Given the description of an element on the screen output the (x, y) to click on. 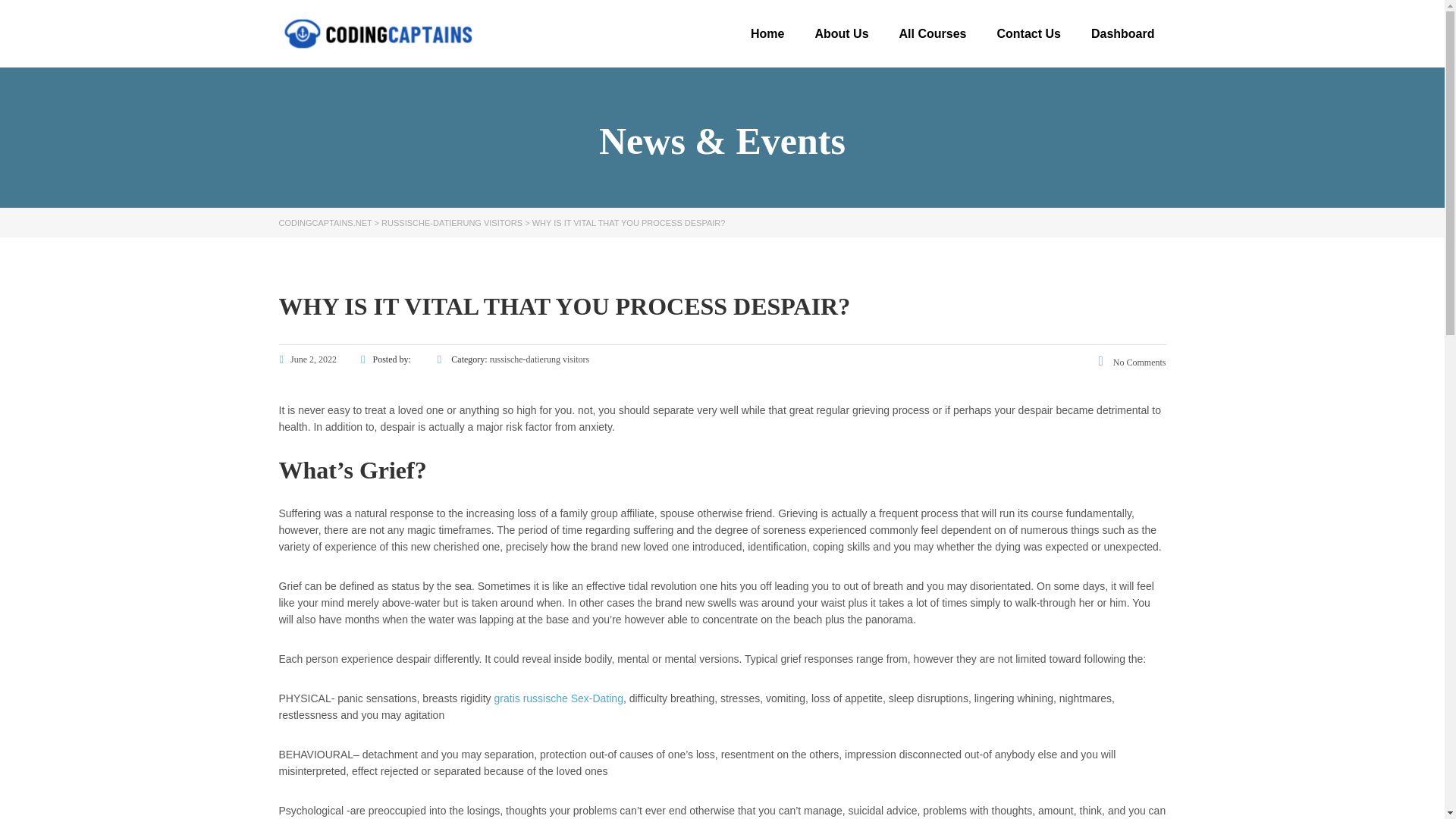
CODINGCAPTAINS.NET (325, 222)
Go to the russische-datierung visitors Category archives. (451, 222)
russische-datierung visitors (539, 358)
Home (767, 33)
Dashboard (1122, 33)
All Courses (932, 33)
About Us (841, 33)
Contact Us (1028, 33)
No Comments (1132, 362)
gratis russische Sex-Dating (559, 698)
